Given the description of an element on the screen output the (x, y) to click on. 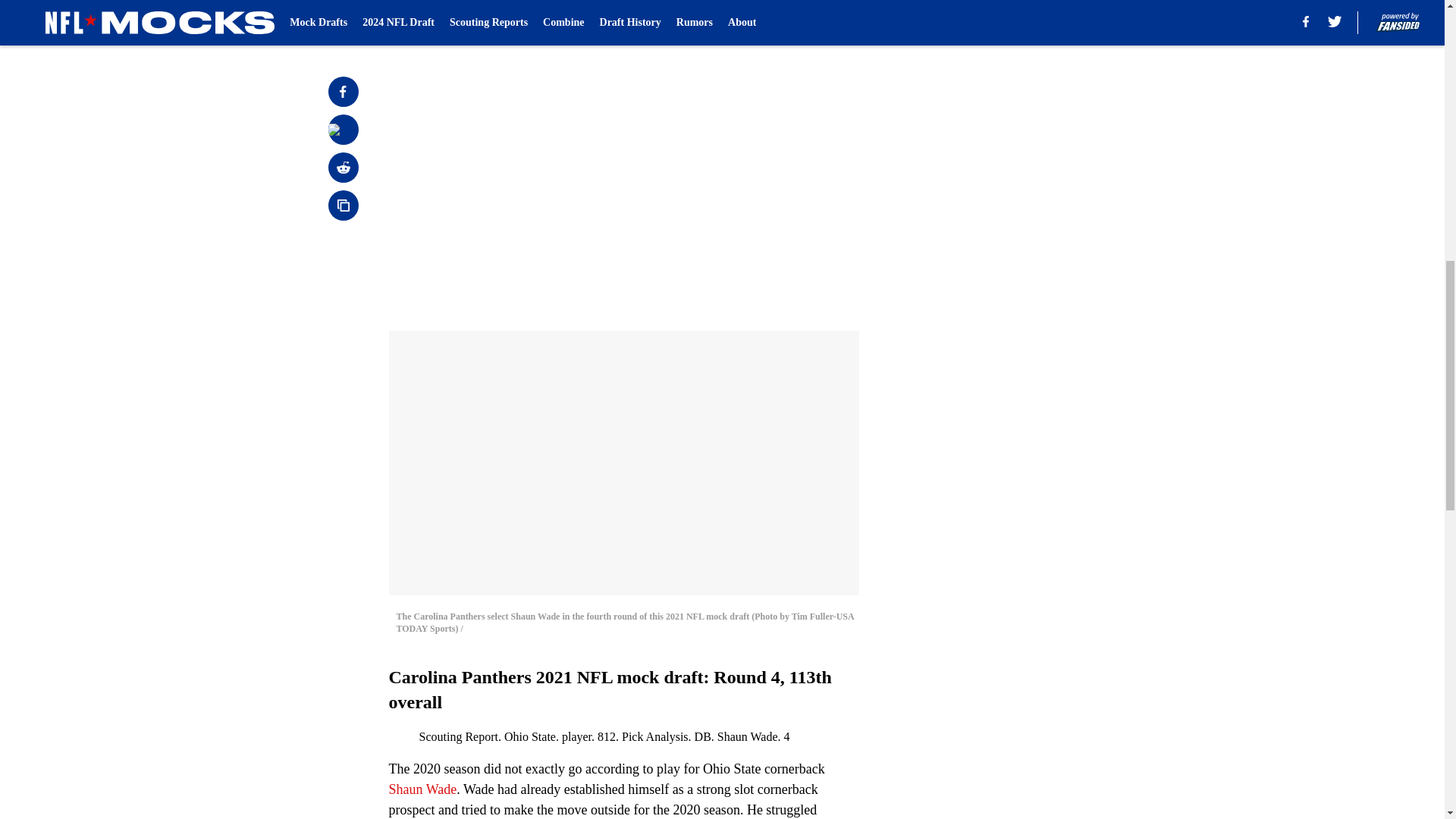
Shaun Wade (422, 789)
Prev (433, 20)
Next (813, 20)
